Given the description of an element on the screen output the (x, y) to click on. 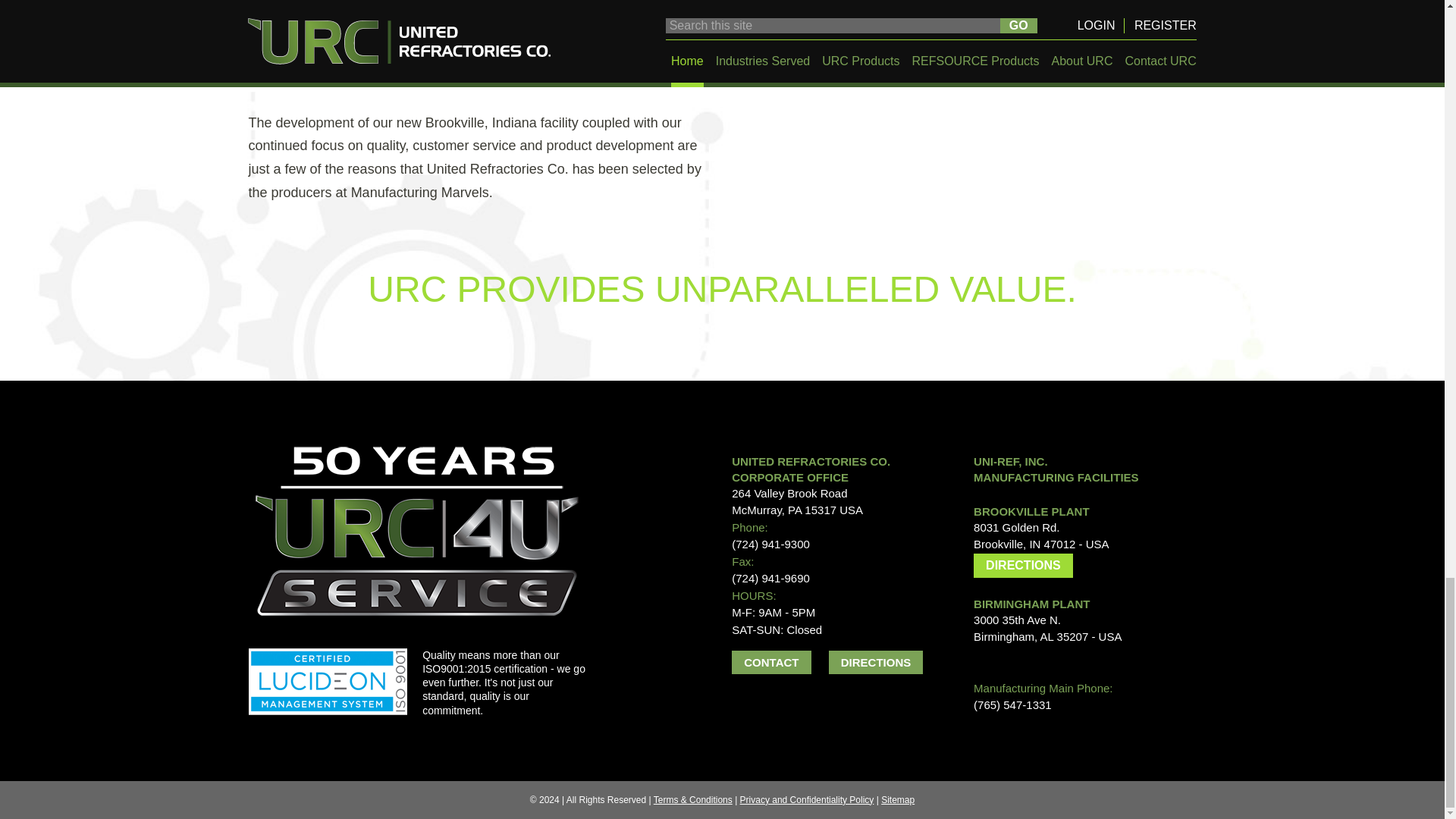
vimeo-player (978, 116)
